Given the description of an element on the screen output the (x, y) to click on. 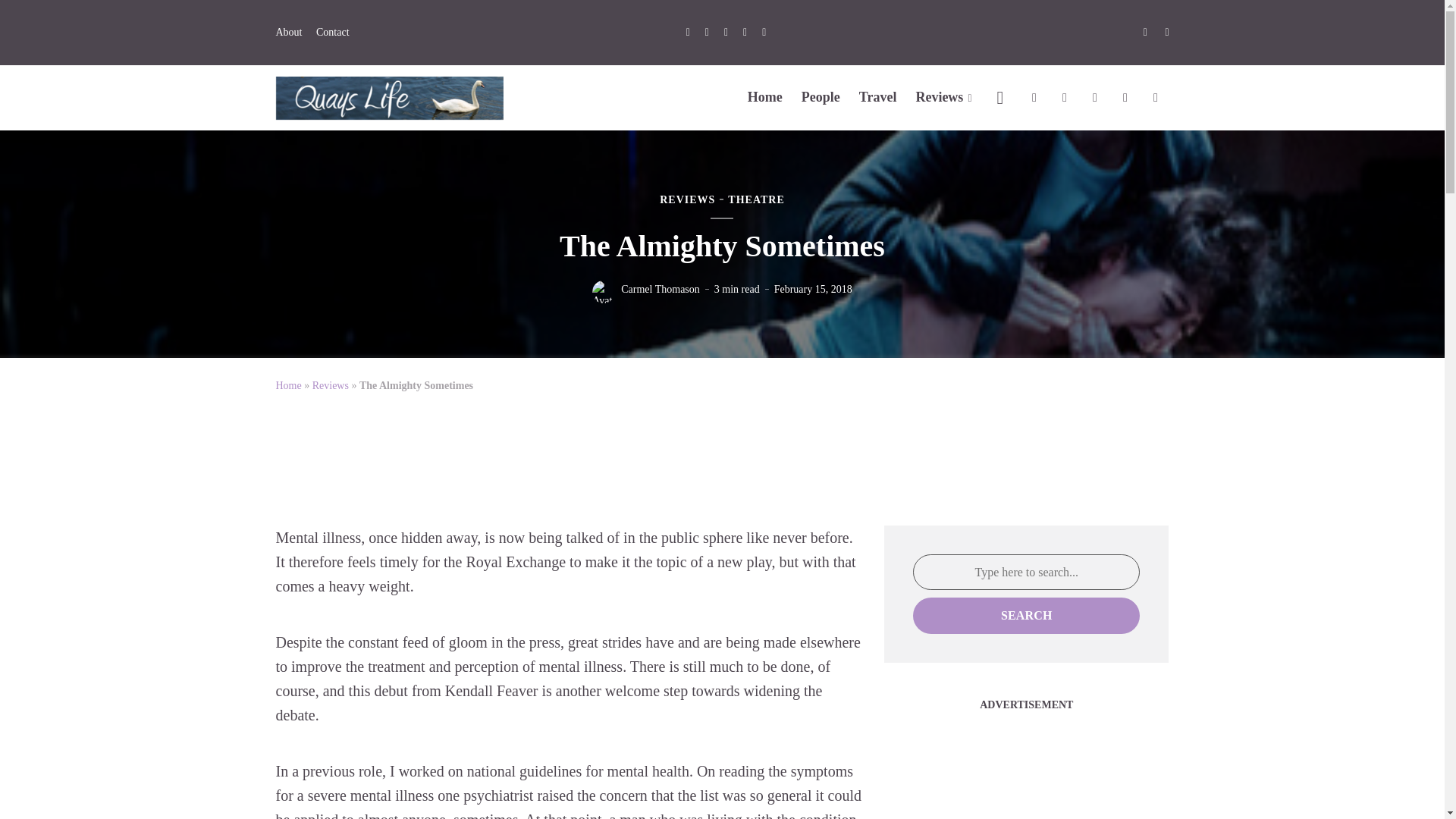
People (821, 96)
Travel (877, 96)
Reviews (943, 96)
Home (765, 96)
